Given the description of an element on the screen output the (x, y) to click on. 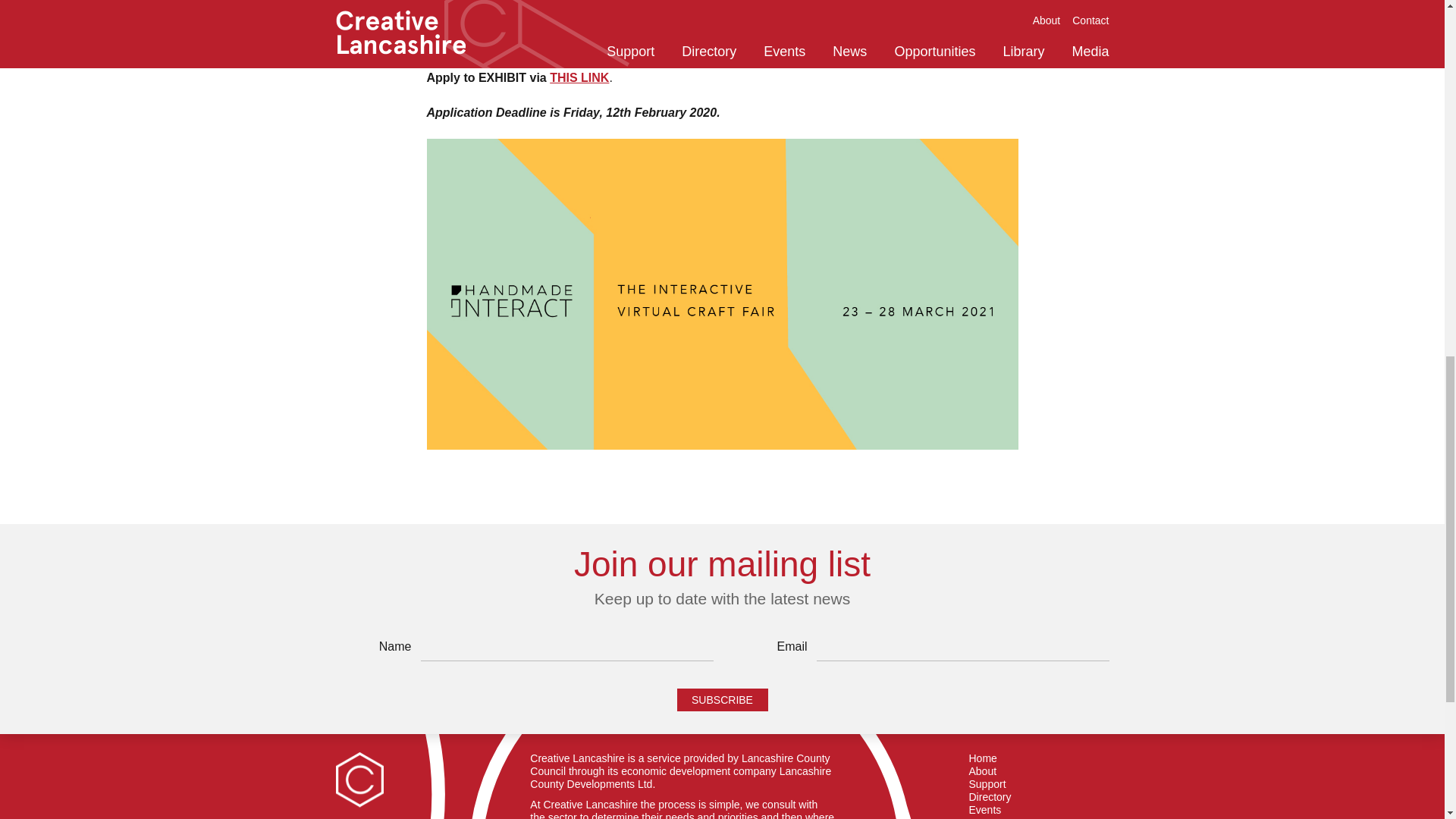
About (983, 771)
News (982, 817)
SUBSCRIBE (722, 699)
THIS LINK (579, 77)
HERE (741, 43)
Home (983, 758)
Support (987, 784)
Directory (990, 797)
Events (985, 809)
HERE (616, 43)
